Given the description of an element on the screen output the (x, y) to click on. 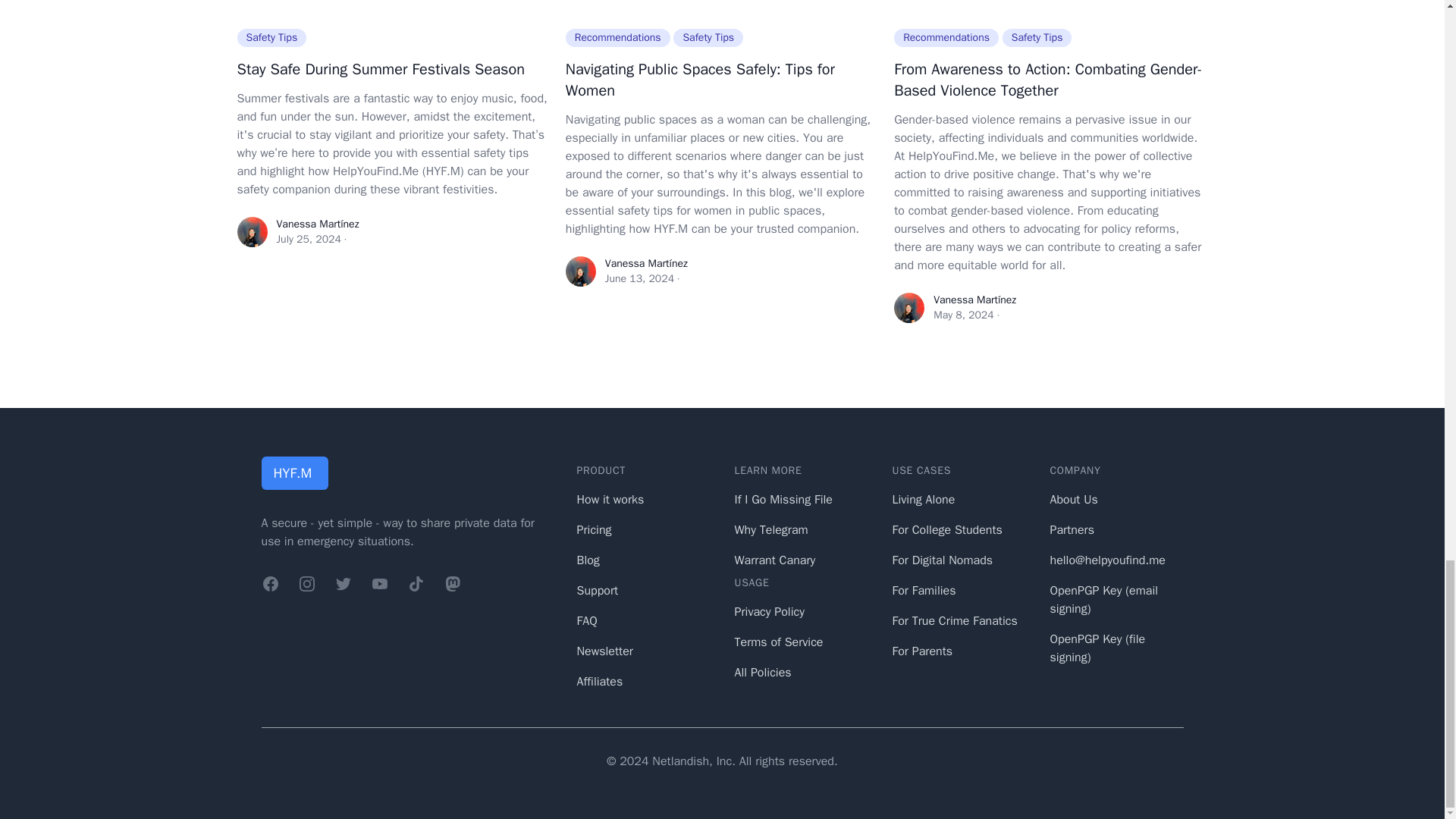
Facebook (269, 583)
Recommendations (945, 36)
How it works (609, 499)
Recommendations (617, 36)
TikTok (415, 583)
Mastodon (451, 583)
Safety Tips (270, 36)
Safety Tips (707, 36)
Twitter (342, 583)
